Given the description of an element on the screen output the (x, y) to click on. 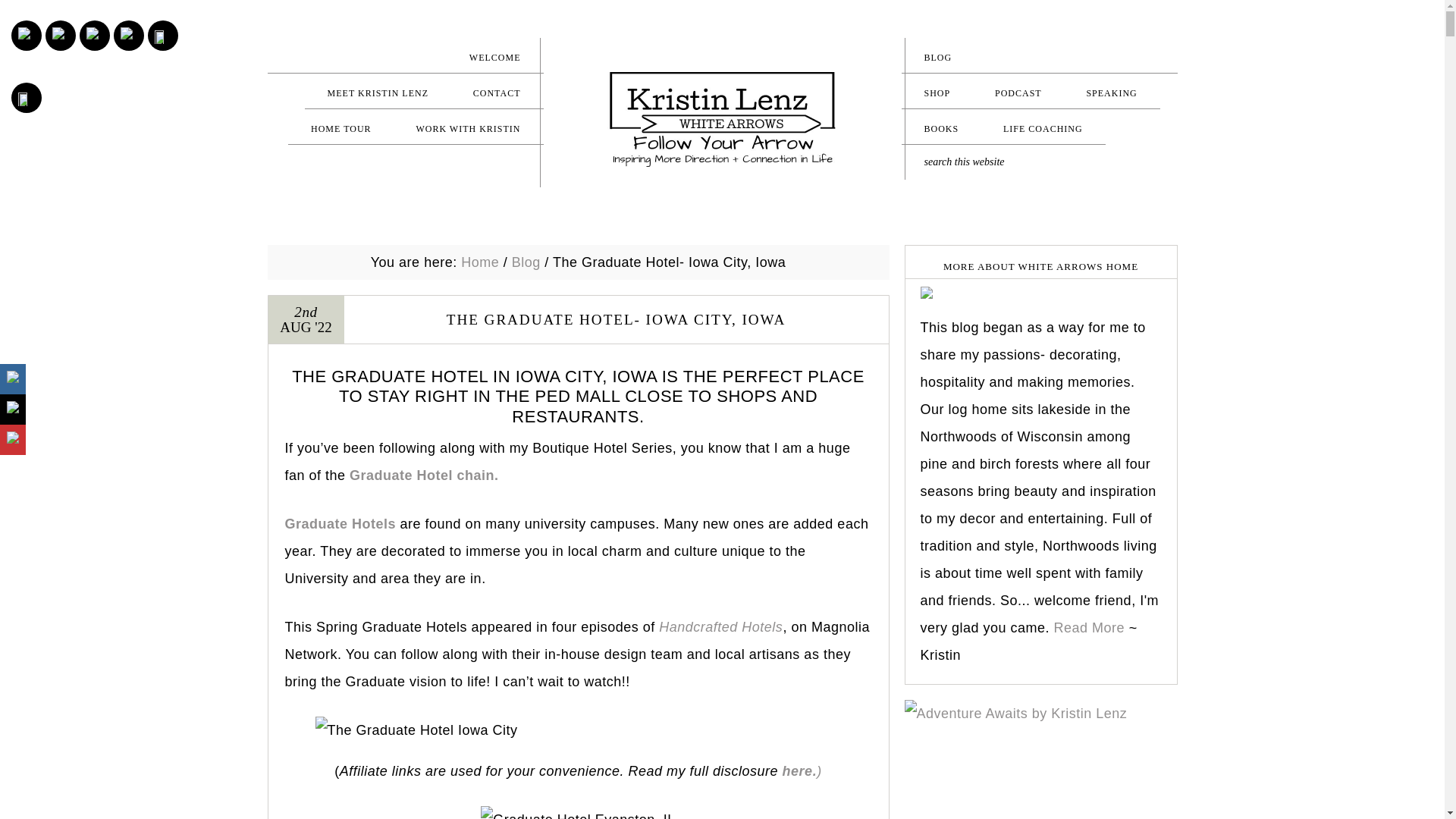
Blog (526, 262)
Pinterest (60, 35)
White Arrows Home (722, 119)
Home (480, 262)
LIFE COACHING (1042, 128)
Graduate Hote (334, 523)
Facebook (94, 35)
SPEAKING (1110, 93)
Handcrafted Hotels (721, 626)
WELCOME (404, 56)
WORK WITH KRISTIN (468, 128)
BLOG (1038, 56)
